Given the description of an element on the screen output the (x, y) to click on. 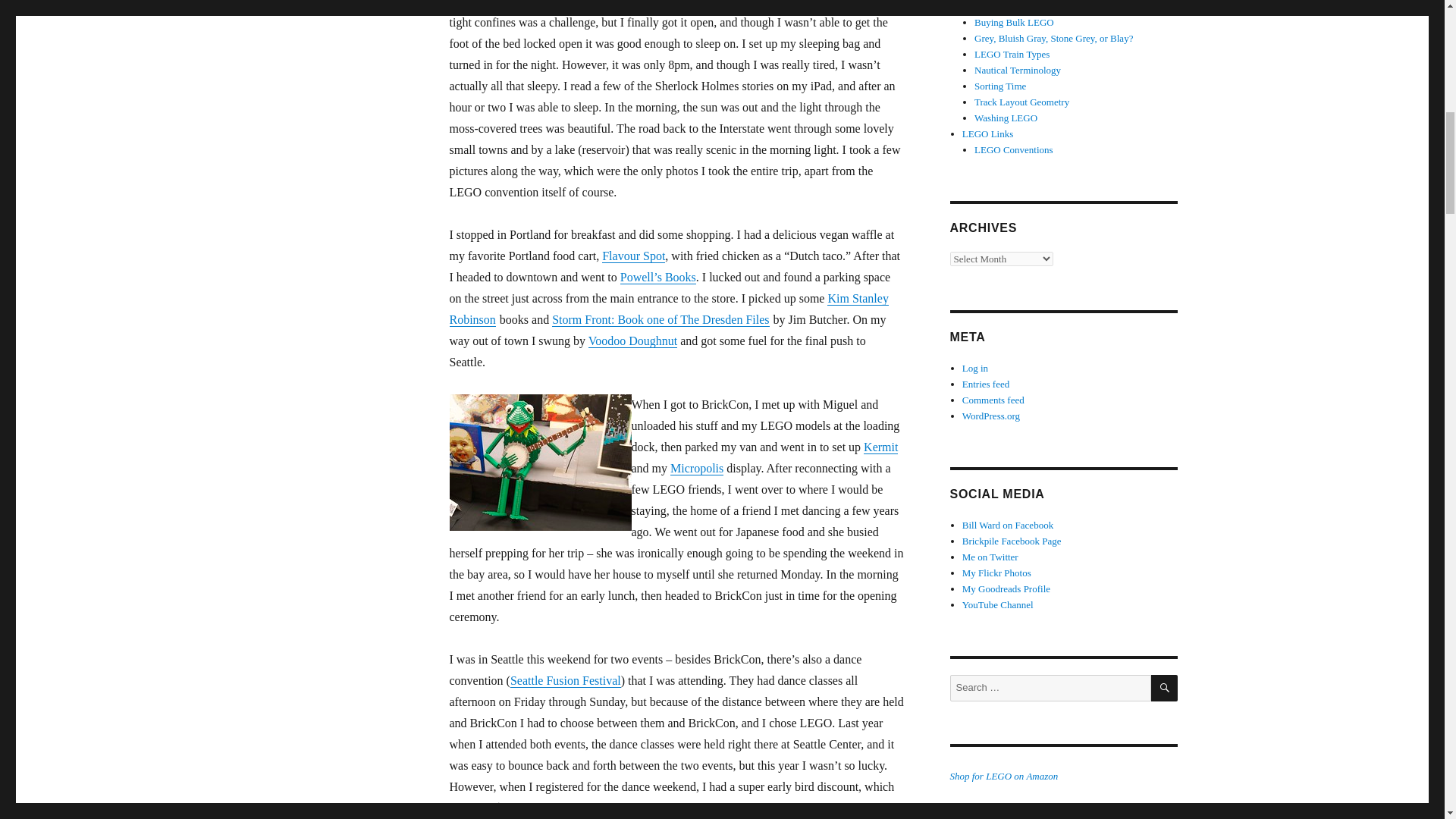
My photostream on flickr.com (996, 572)
Seattle Fusion Festival (566, 680)
Kim Stanley Robinson (668, 308)
Flavour Spot (633, 255)
Voodoo Doughnut (633, 340)
Storm Front: Book one of The Dresden Files (659, 318)
Micropolis (696, 468)
Kermit (880, 446)
